Given the description of an element on the screen output the (x, y) to click on. 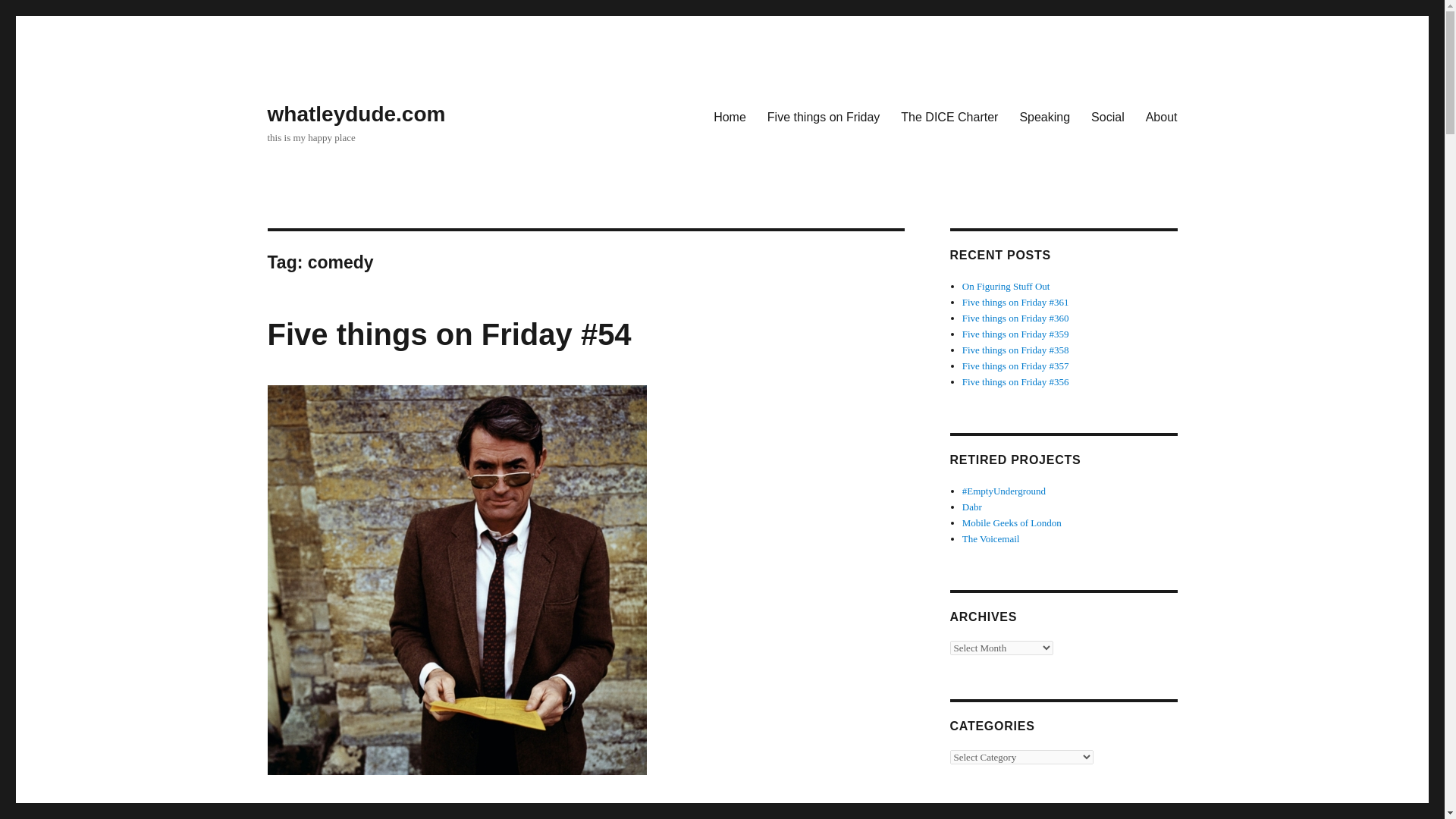
Five things on Friday (824, 116)
Speaking (1044, 116)
The DICE Charter (949, 116)
Home (730, 116)
whatleydude.com (355, 114)
About (1161, 116)
Social (1107, 116)
